Given the description of an element on the screen output the (x, y) to click on. 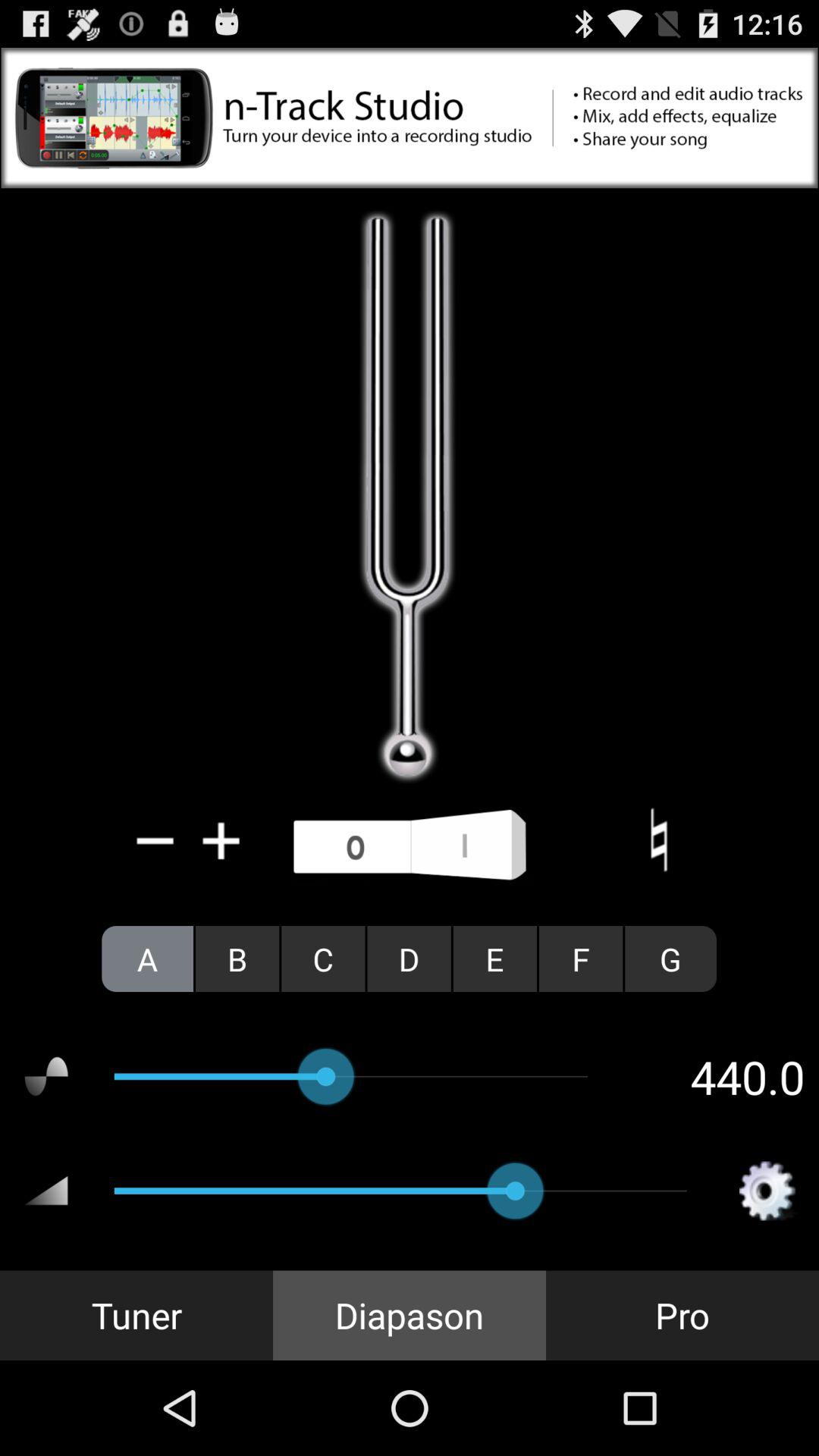
swipe until the e icon (494, 958)
